Given the description of an element on the screen output the (x, y) to click on. 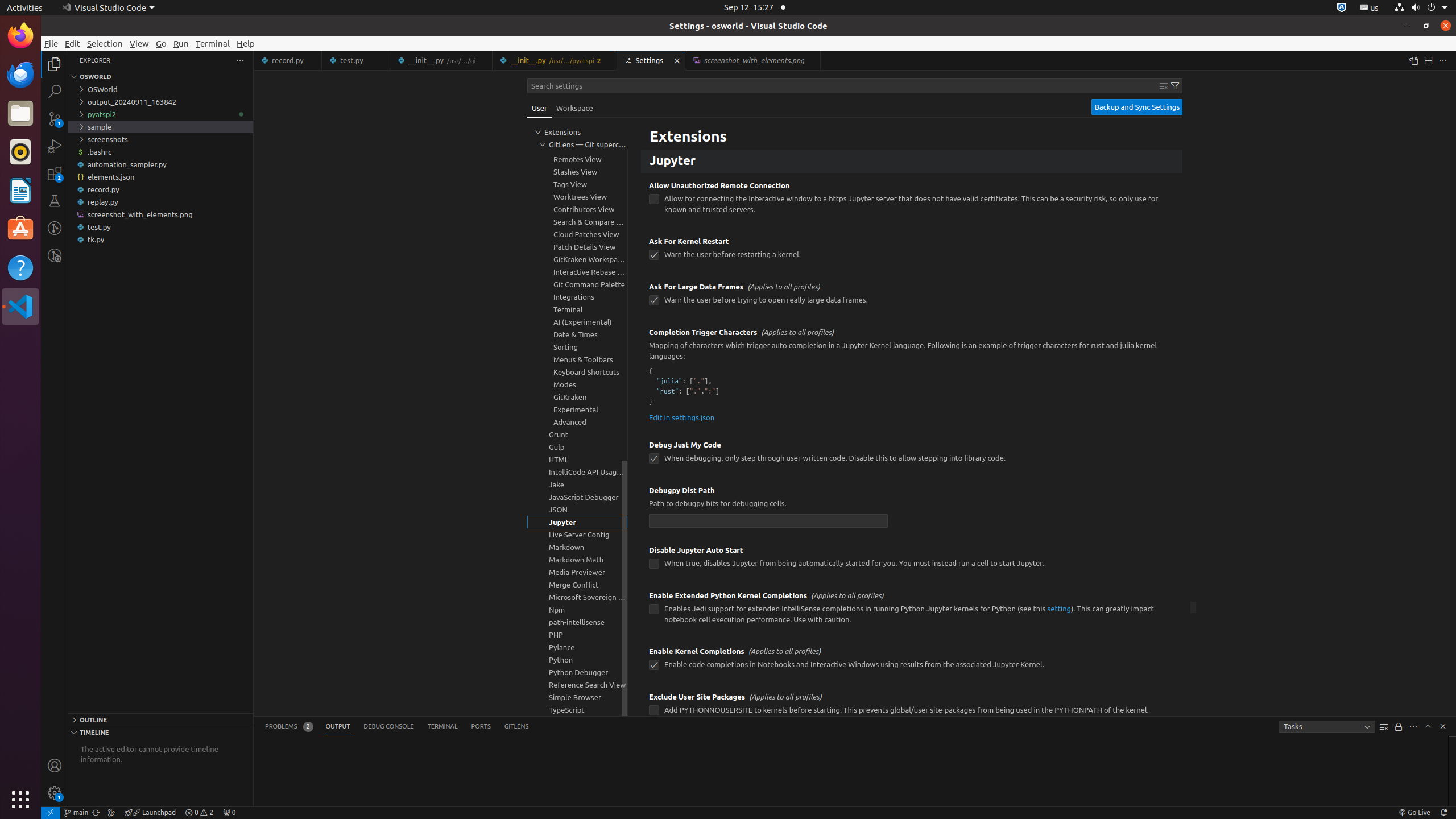
 Ask For Kernel Restart. Warn the user before restarting a kernel.  Element type: tree-item (911, 251)
Markdown, group Element type: tree-item (577, 546)
record.py Element type: page-tab (287, 60)
Selection Element type: push-button (104, 43)
